Given the description of an element on the screen output the (x, y) to click on. 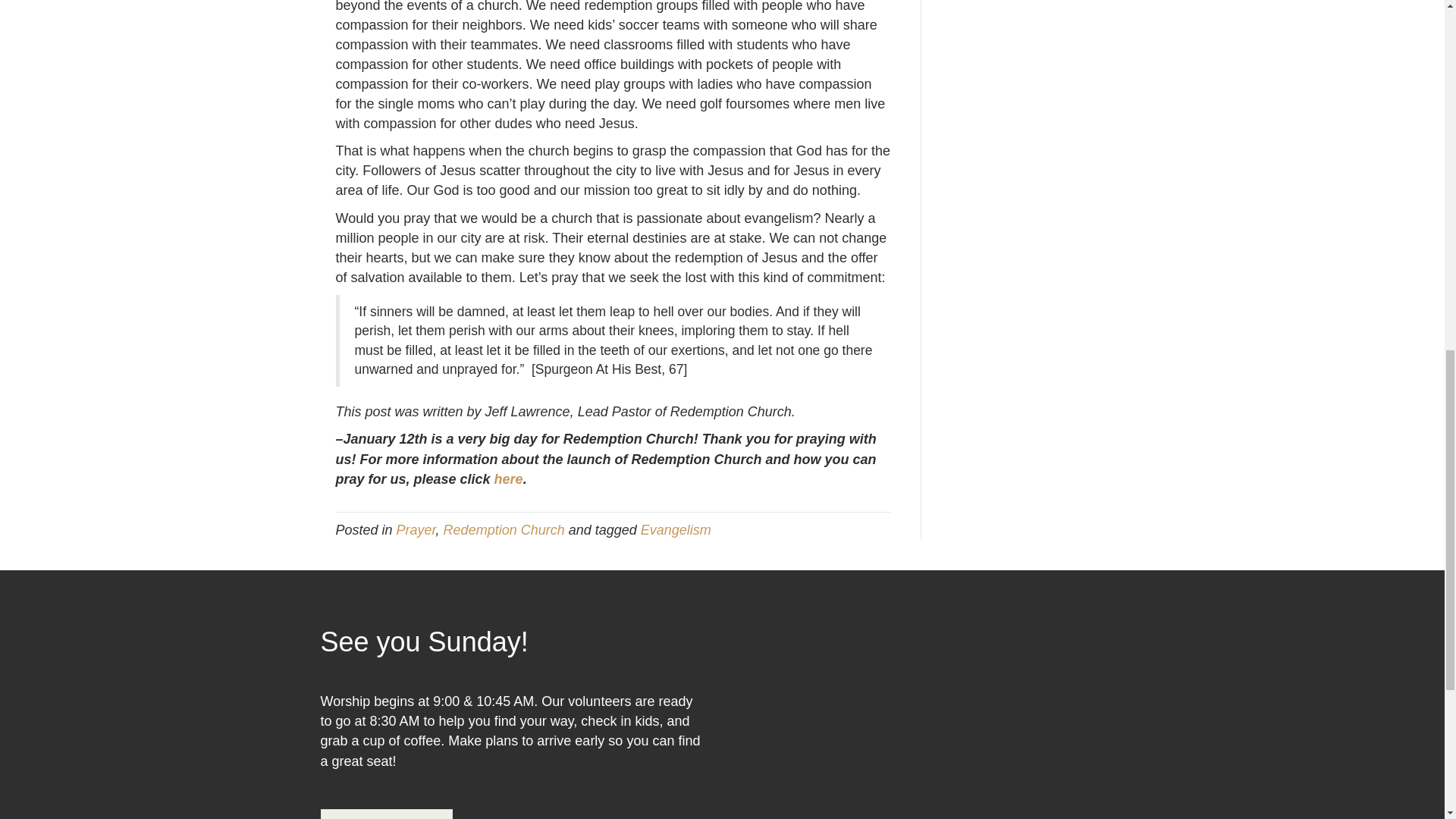
Redemption Church (504, 529)
What to Expect (386, 814)
here (508, 478)
Prayer (415, 529)
Evangelism (675, 529)
